Given the description of an element on the screen output the (x, y) to click on. 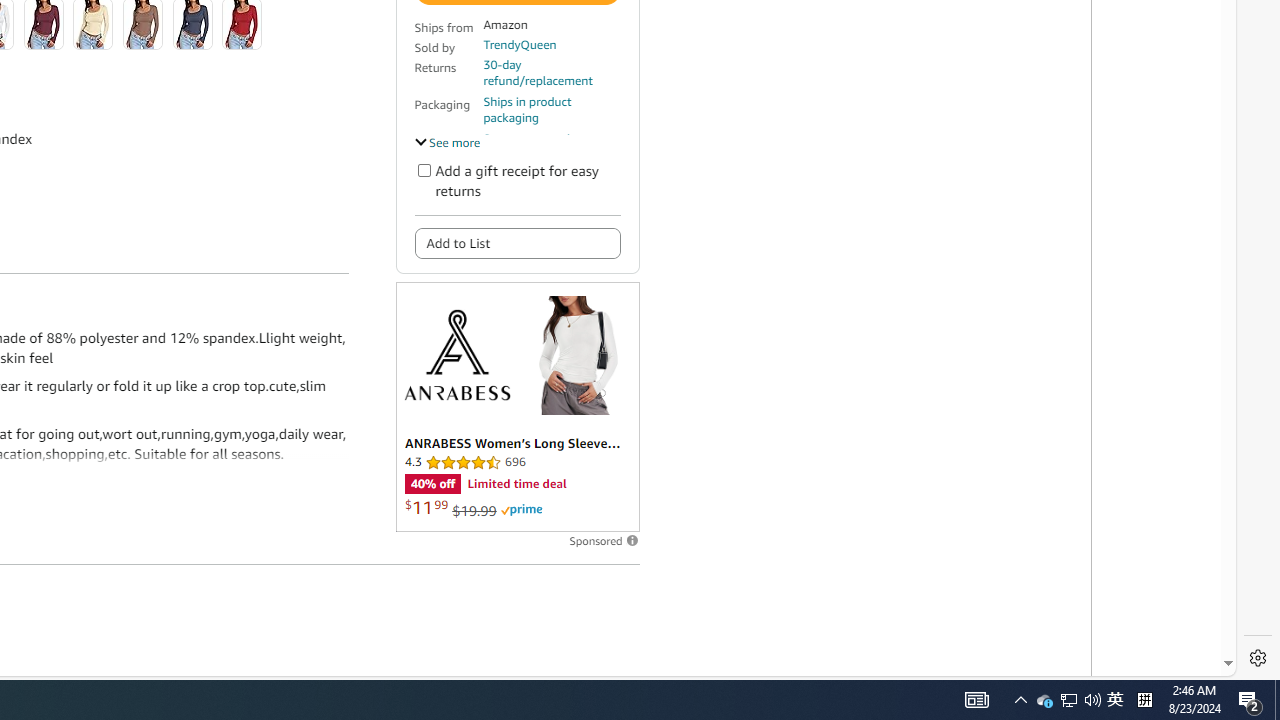
Logo (456, 354)
Prime (521, 509)
Ships in product packaging (551, 109)
30-day refund/replacement (551, 72)
Sponsored ad (516, 406)
TrendyQueen (519, 43)
Add to List (516, 242)
Secure transaction (533, 138)
Add a gift receipt for easy returns (424, 170)
